Given the description of an element on the screen output the (x, y) to click on. 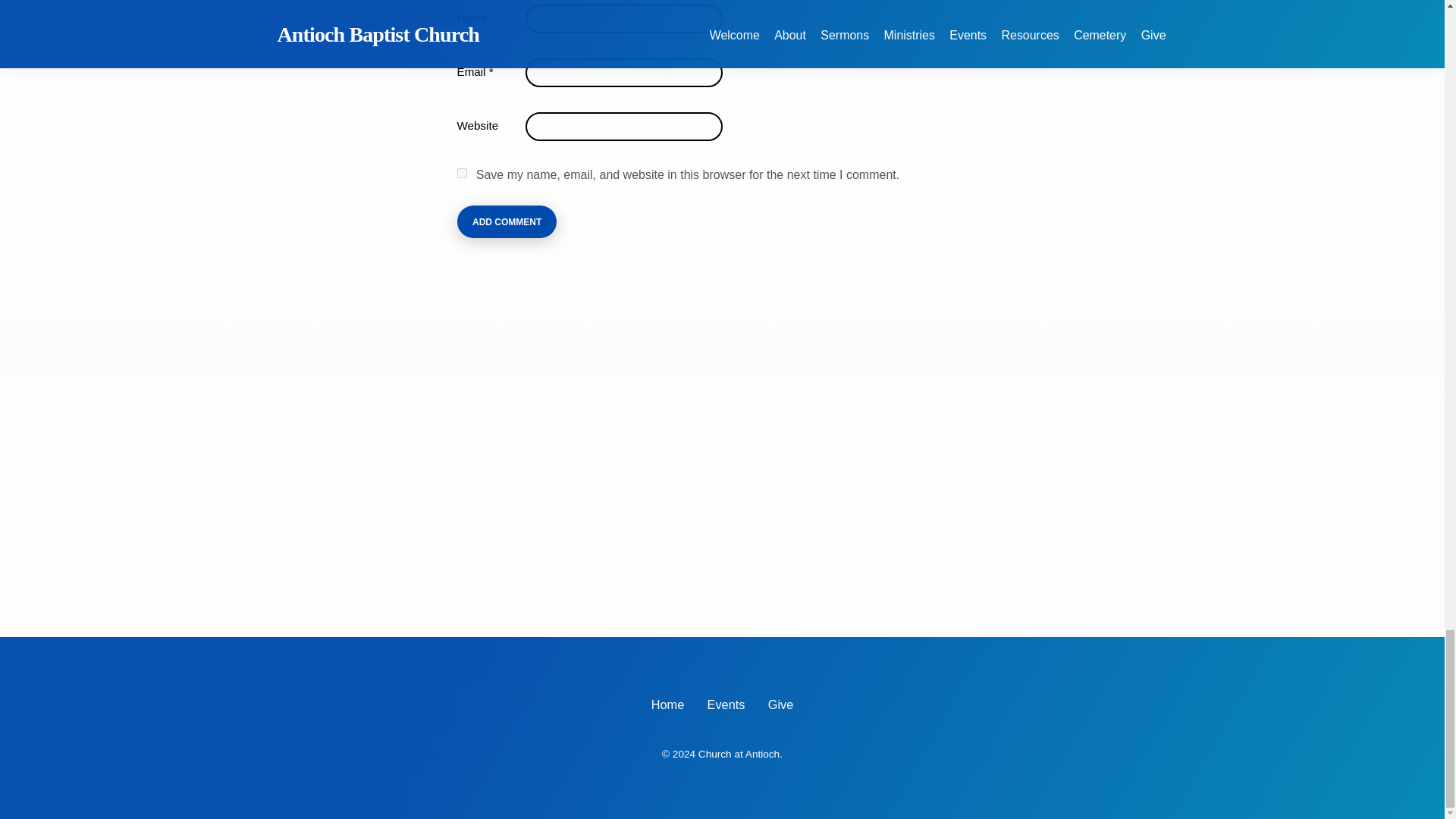
Add Comment (506, 221)
yes (461, 173)
Give (780, 704)
Events (726, 704)
Home (667, 704)
Add Comment (506, 221)
